Given the description of an element on the screen output the (x, y) to click on. 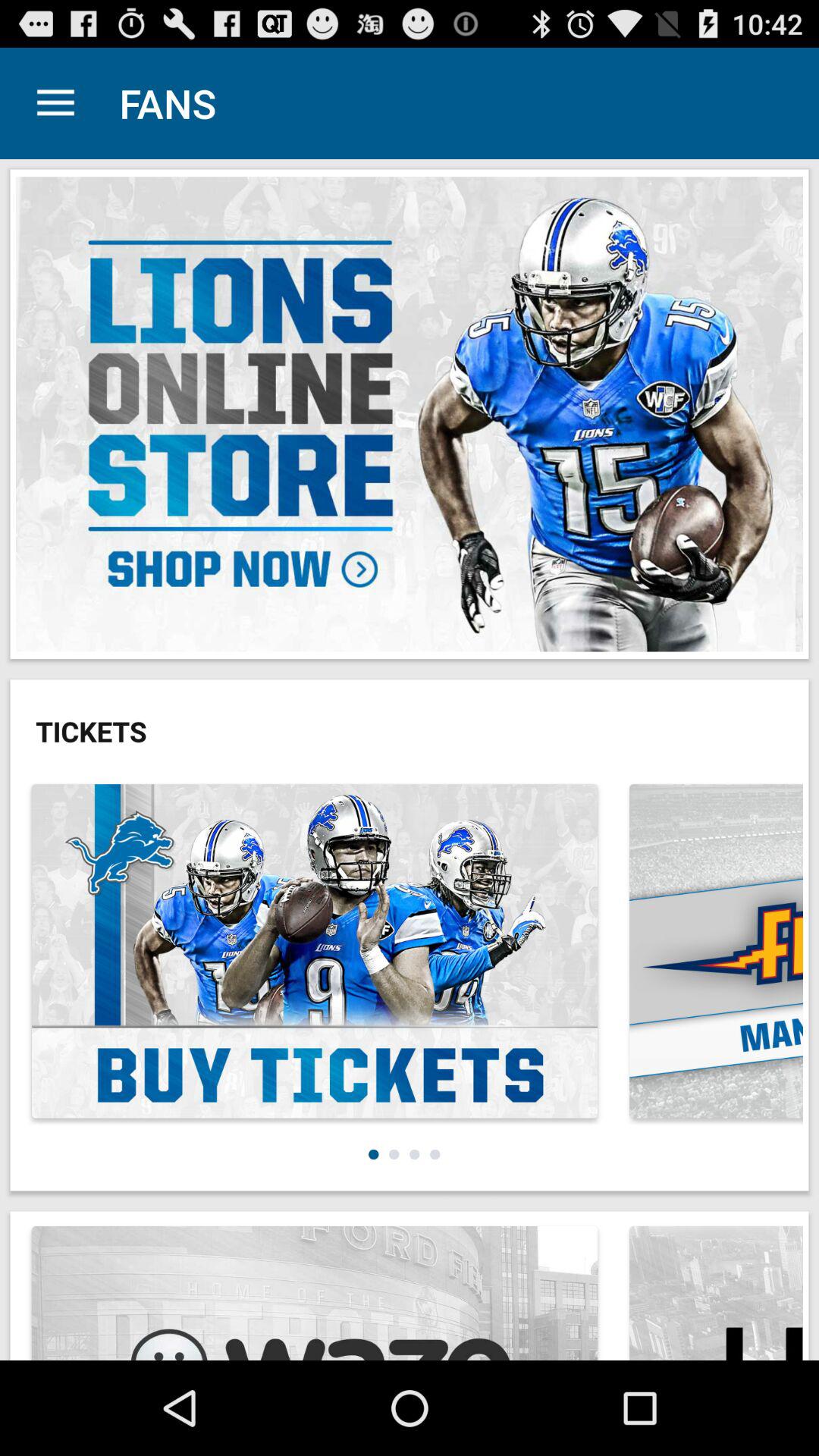
turn off app next to the fans (55, 103)
